Given the description of an element on the screen output the (x, y) to click on. 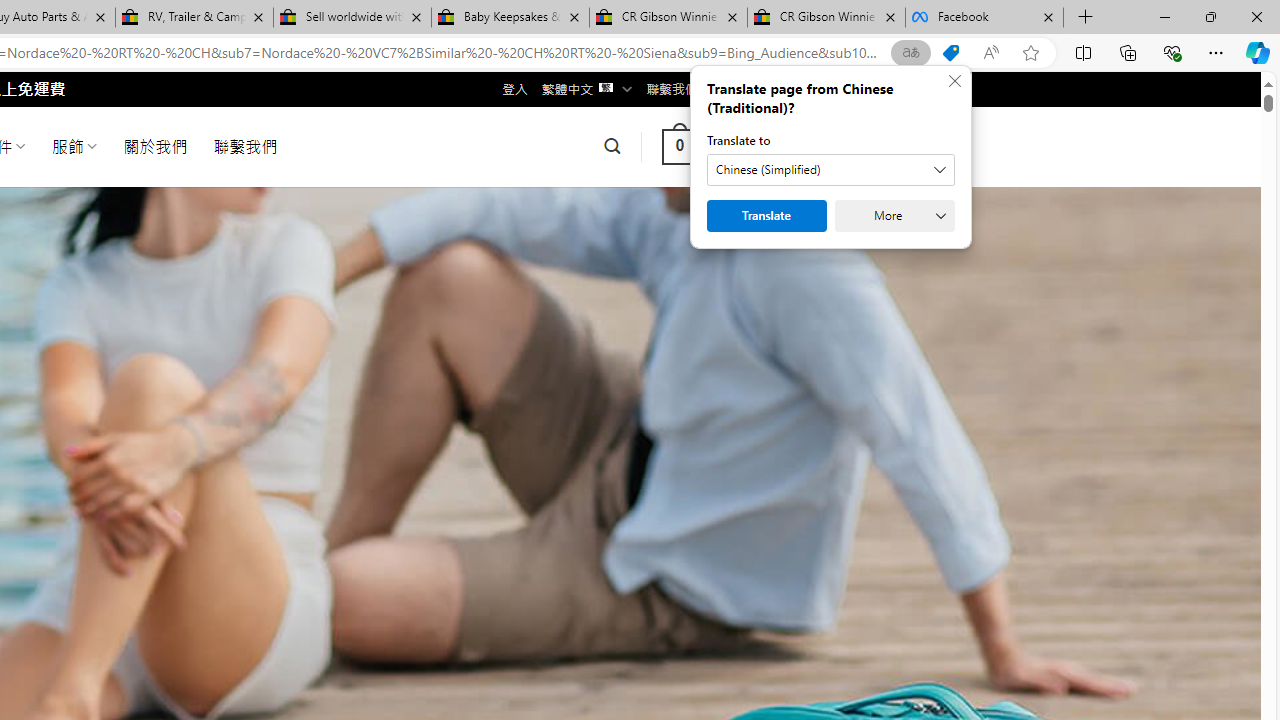
 0  (679, 146)
RV, Trailer & Camper Steps & Ladders for sale | eBay (194, 17)
Facebook (984, 17)
More (894, 215)
Sell worldwide with eBay (352, 17)
